Given the description of an element on the screen output the (x, y) to click on. 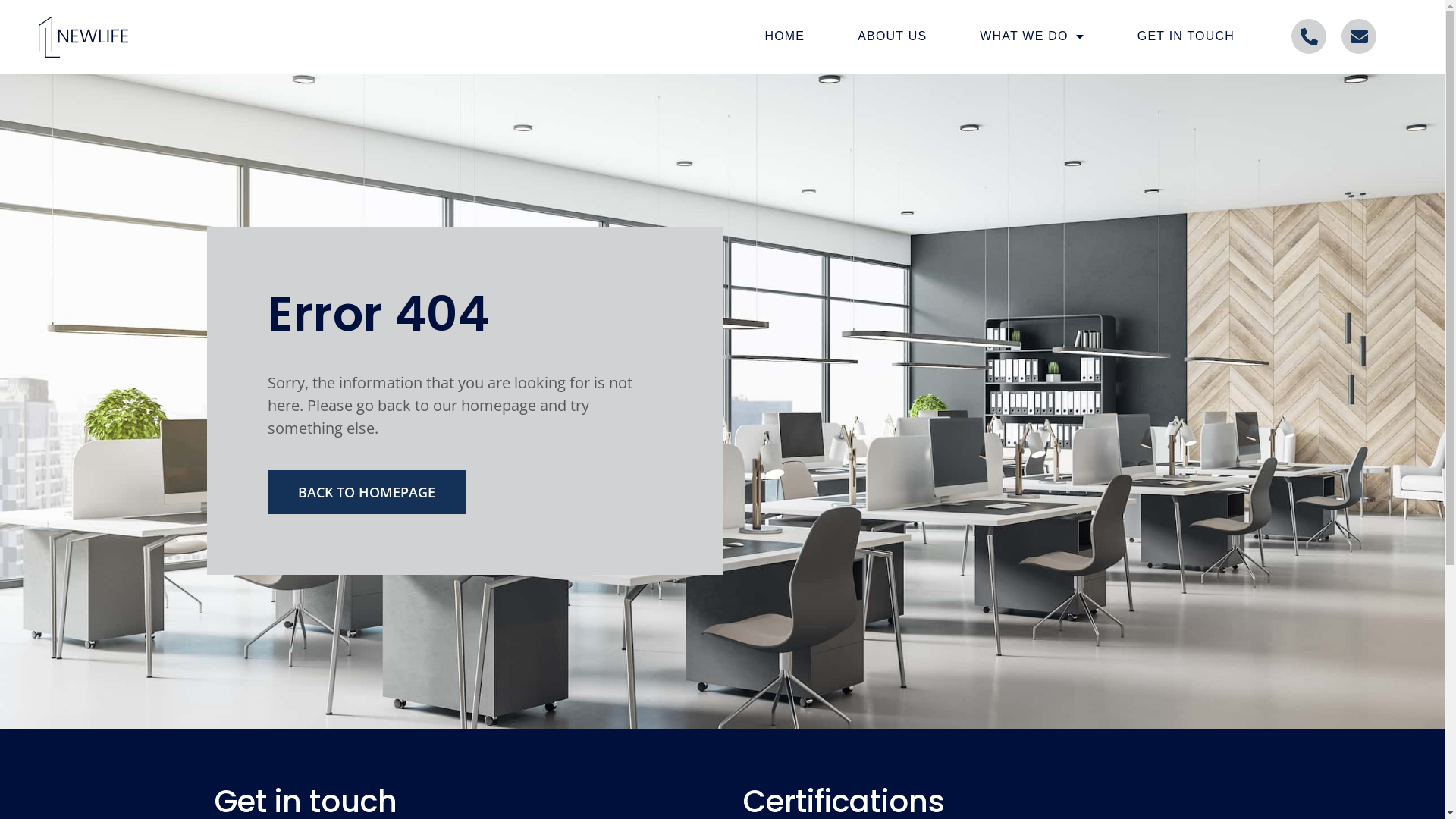
BACK TO HOMEPAGE Element type: text (365, 492)
GET IN TOUCH Element type: text (1185, 35)
ABOUT US Element type: text (892, 35)
WHAT WE DO Element type: text (1031, 35)
HOME Element type: text (784, 35)
